Given the description of an element on the screen output the (x, y) to click on. 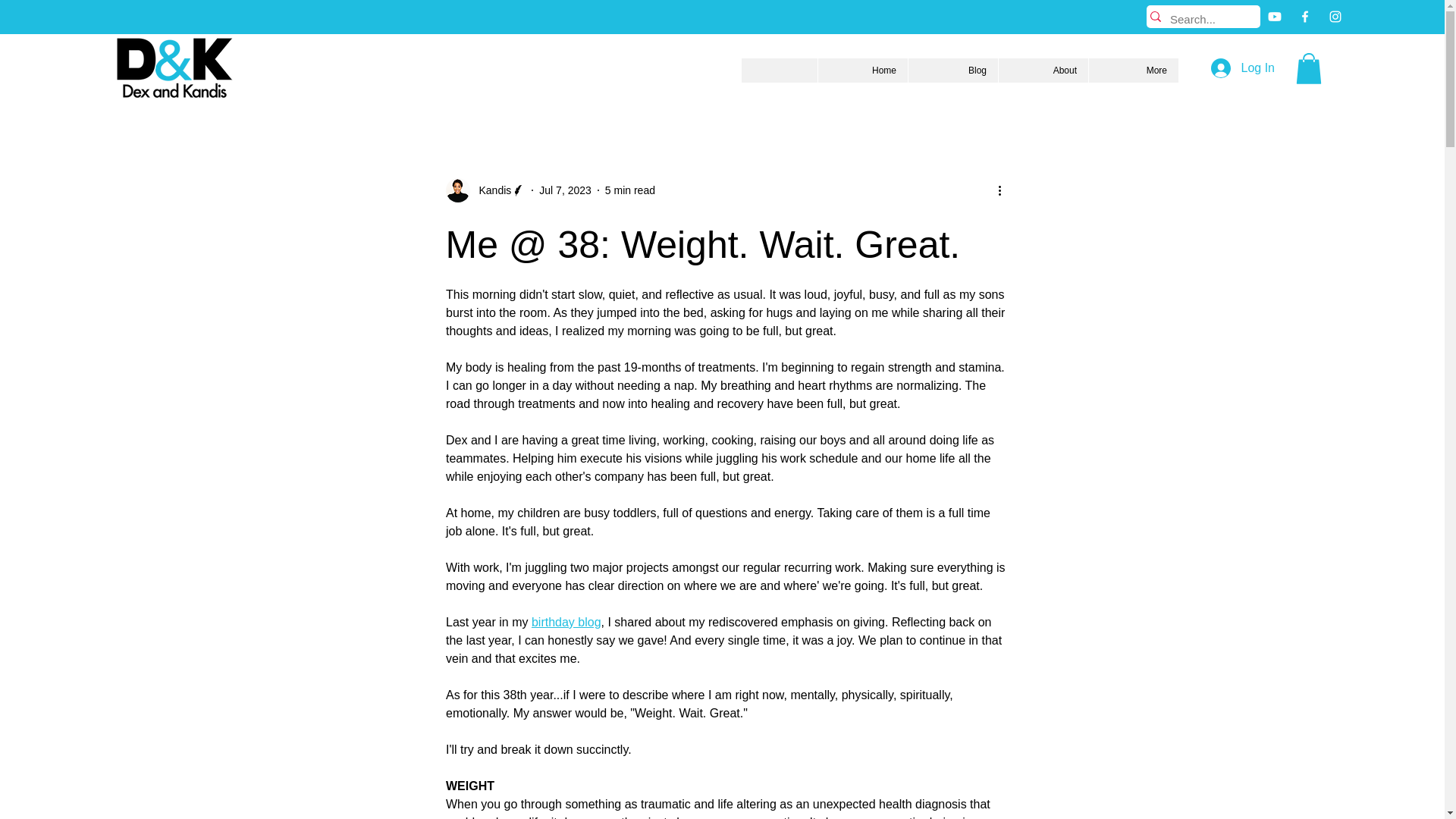
Kandis (491, 189)
5 min read (630, 189)
Kandis (485, 190)
Blog (952, 70)
Jul 7, 2023 (564, 189)
Home (861, 70)
birthday blog (565, 621)
About (1042, 70)
Log In (1242, 68)
